Given the description of an element on the screen output the (x, y) to click on. 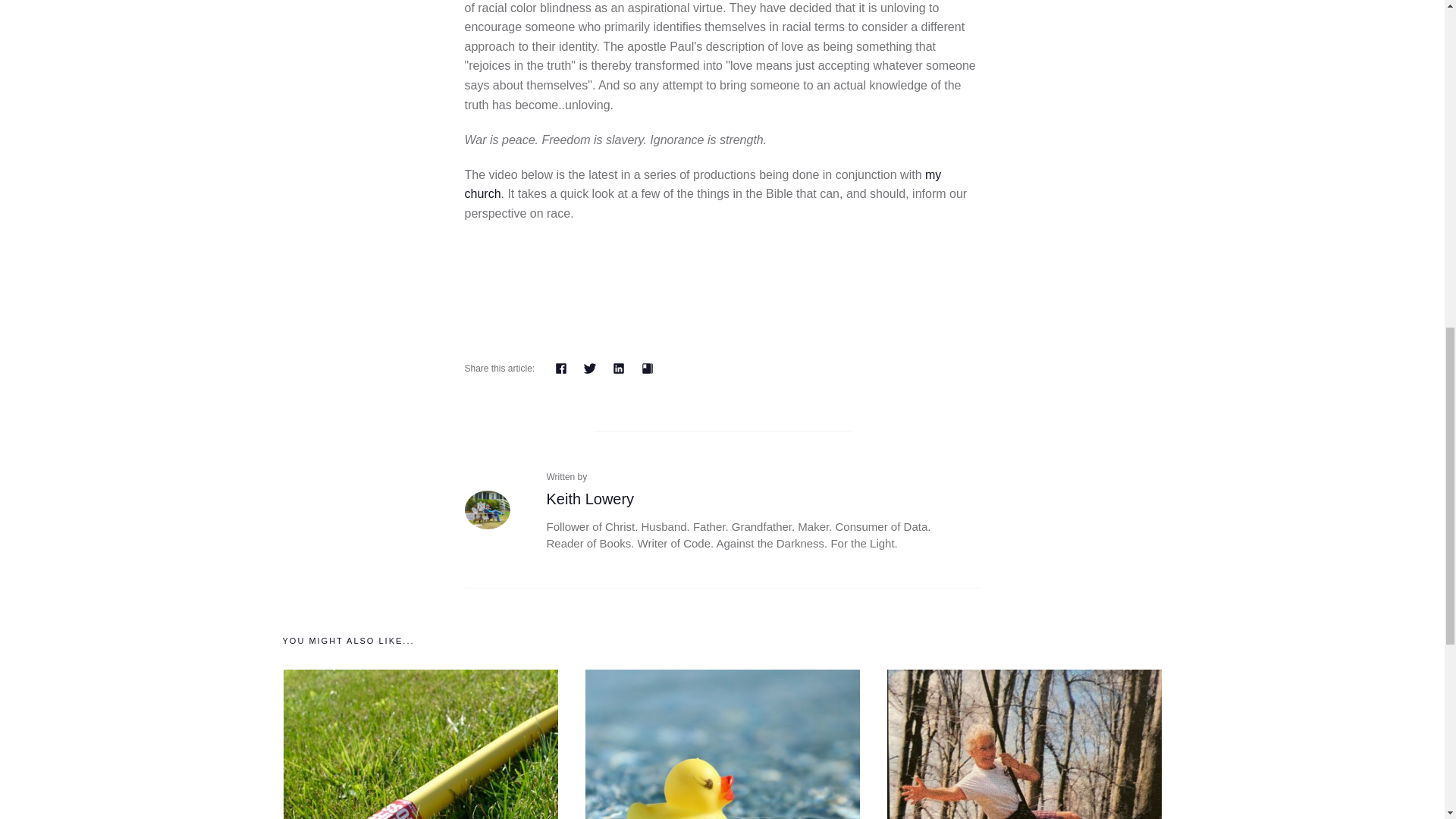
my church (702, 184)
Keith Lowery (486, 508)
Keith Lowery (589, 498)
Keith Lowery (589, 498)
